Given the description of an element on the screen output the (x, y) to click on. 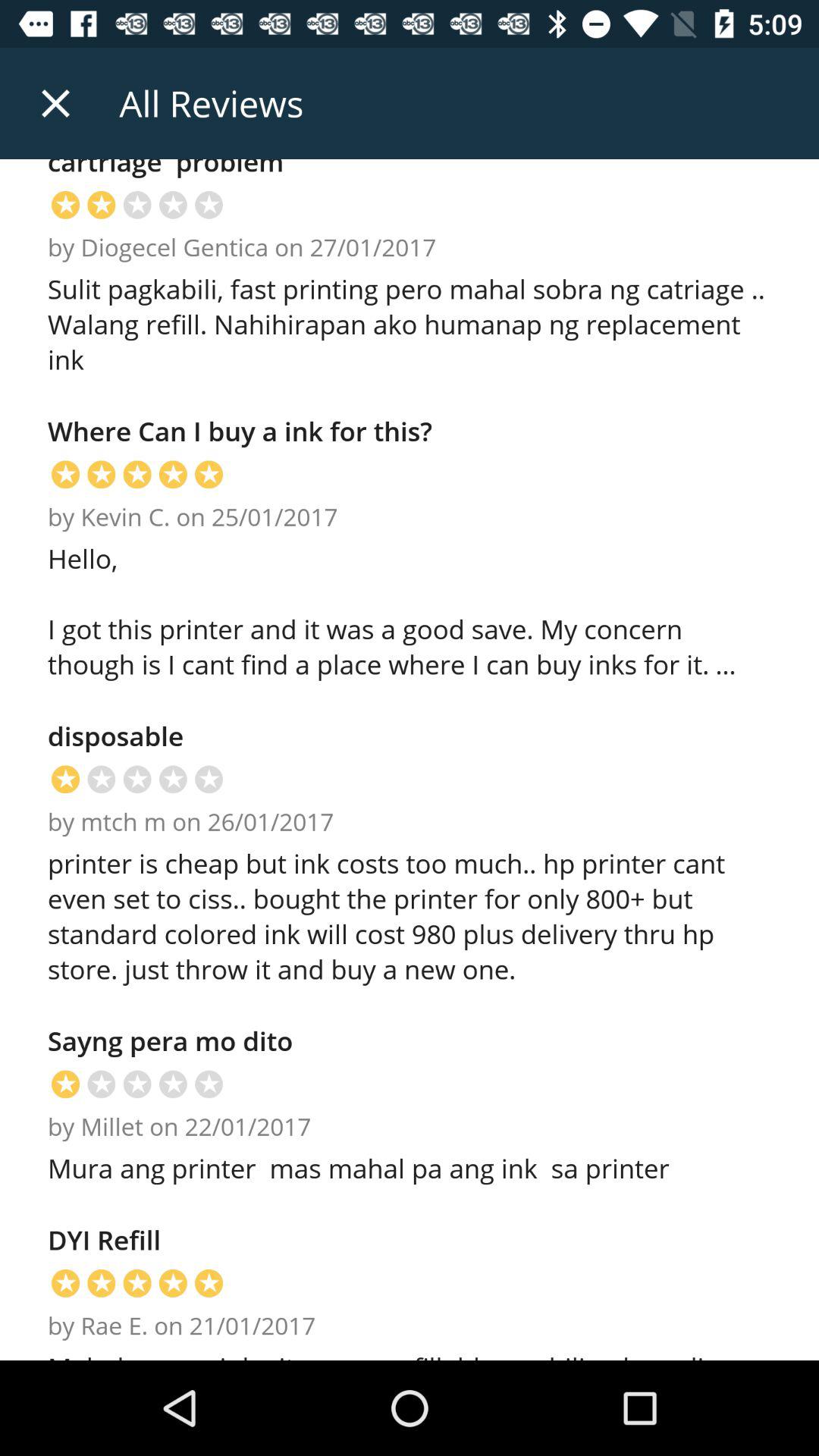
choose icon above cartriage  problem item (55, 103)
